Given the description of an element on the screen output the (x, y) to click on. 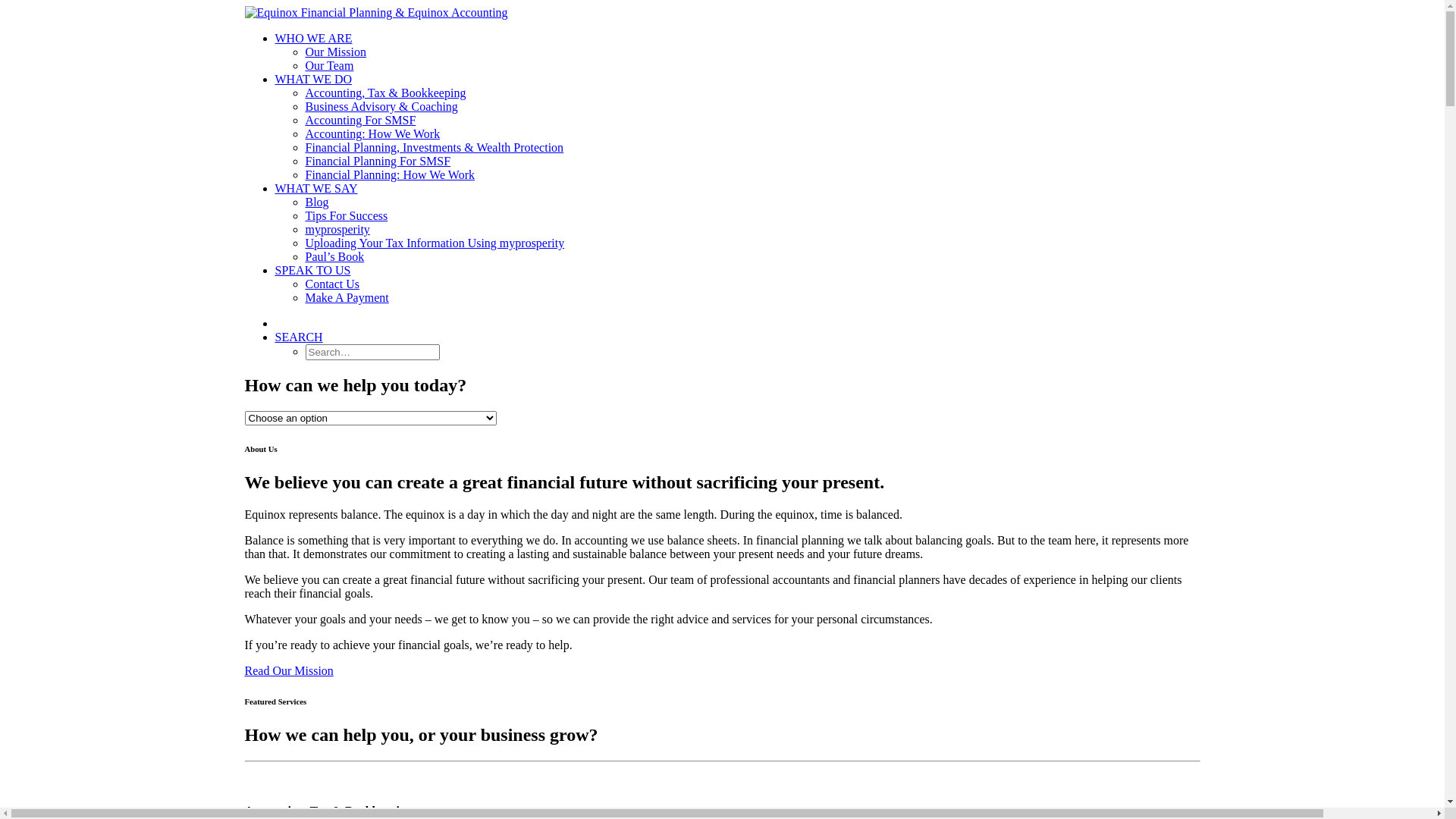
Tips For Success Element type: text (345, 215)
Blog Element type: text (316, 201)
Accounting, Tax & Bookkeeping Element type: text (384, 92)
Financial Planning: How We Work Element type: text (388, 174)
Financial Planning For SMSF Element type: text (377, 160)
Accounting For SMSF Element type: text (359, 119)
Accounting: How We Work Element type: text (371, 133)
WHAT WE SAY Element type: text (315, 188)
Business Advisory & Coaching Element type: text (380, 106)
WHAT WE DO Element type: text (312, 78)
Contact Us Element type: text (331, 283)
Make A Payment Element type: text (346, 297)
Our Team Element type: text (328, 65)
Financial Planning, Investments & Wealth Protection Element type: text (433, 147)
SPEAK TO US Element type: text (312, 269)
WHO WE ARE Element type: text (312, 37)
myprosperity Element type: text (336, 228)
Our Mission Element type: text (334, 51)
Read Our Mission Element type: text (288, 670)
Search for: Element type: hover (371, 352)
SEARCH Element type: text (298, 336)
Uploading Your Tax Information Using myprosperity Element type: text (434, 242)
